Given the description of an element on the screen output the (x, y) to click on. 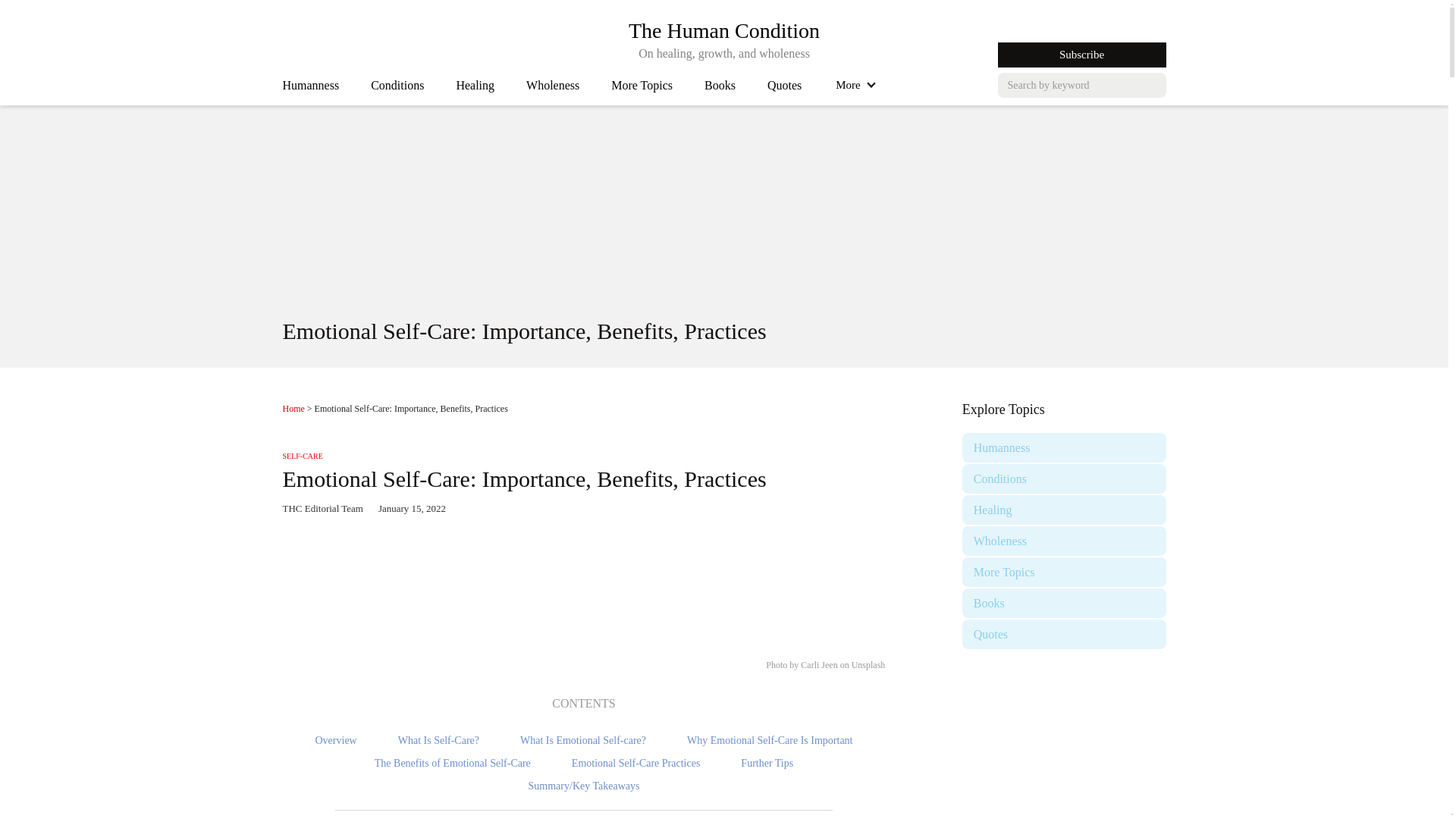
Wholeness (552, 88)
Healing (475, 88)
Conditions (397, 88)
Go to The Human Condition. (293, 408)
Humanness (310, 88)
More Topics (723, 29)
